Given the description of an element on the screen output the (x, y) to click on. 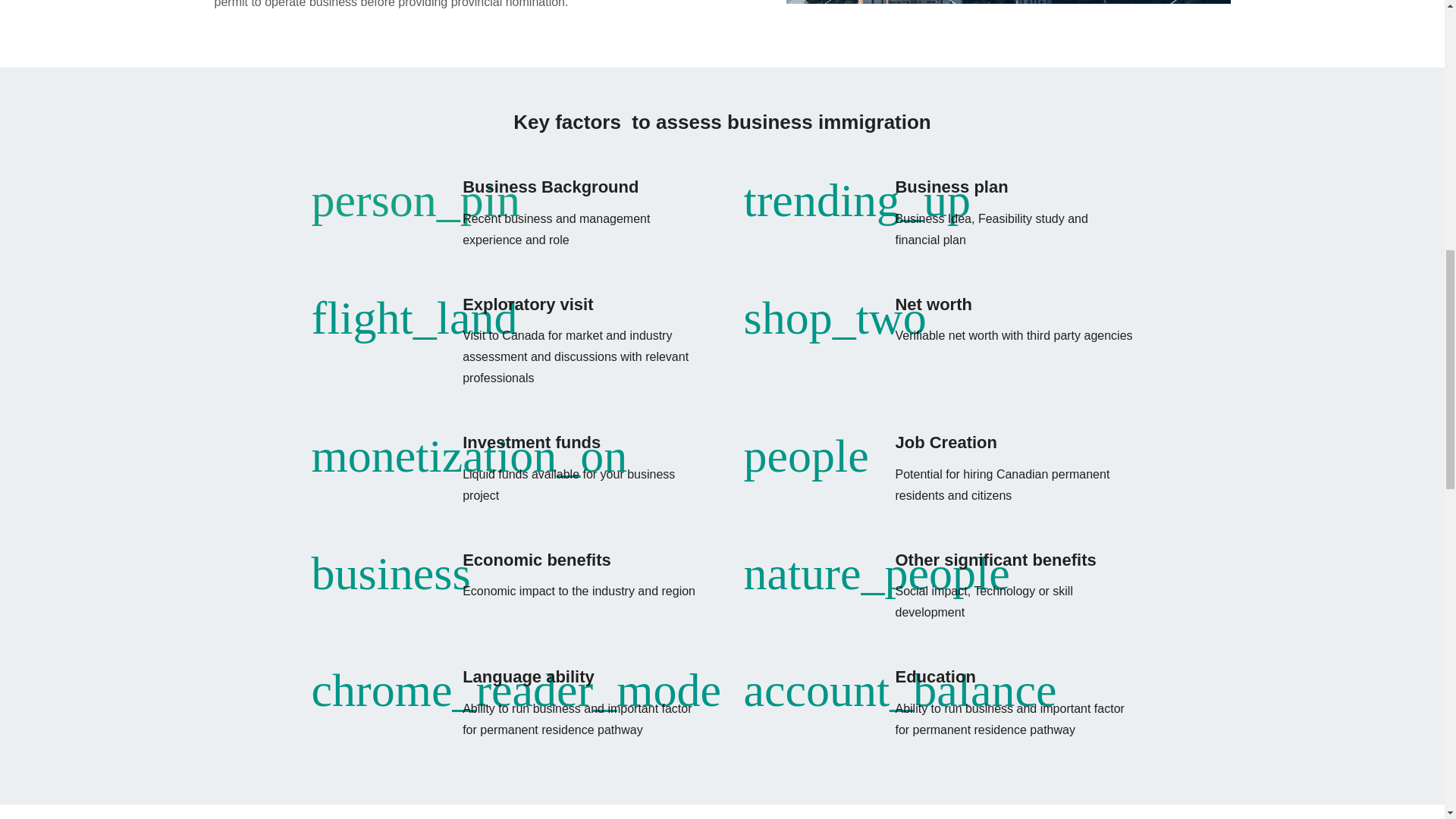
icon (875, 584)
icon (415, 211)
icon (899, 701)
icon (469, 467)
icon (804, 467)
icon (390, 584)
icon (834, 328)
icon (515, 701)
icon (413, 328)
icon (856, 211)
